Given the description of an element on the screen output the (x, y) to click on. 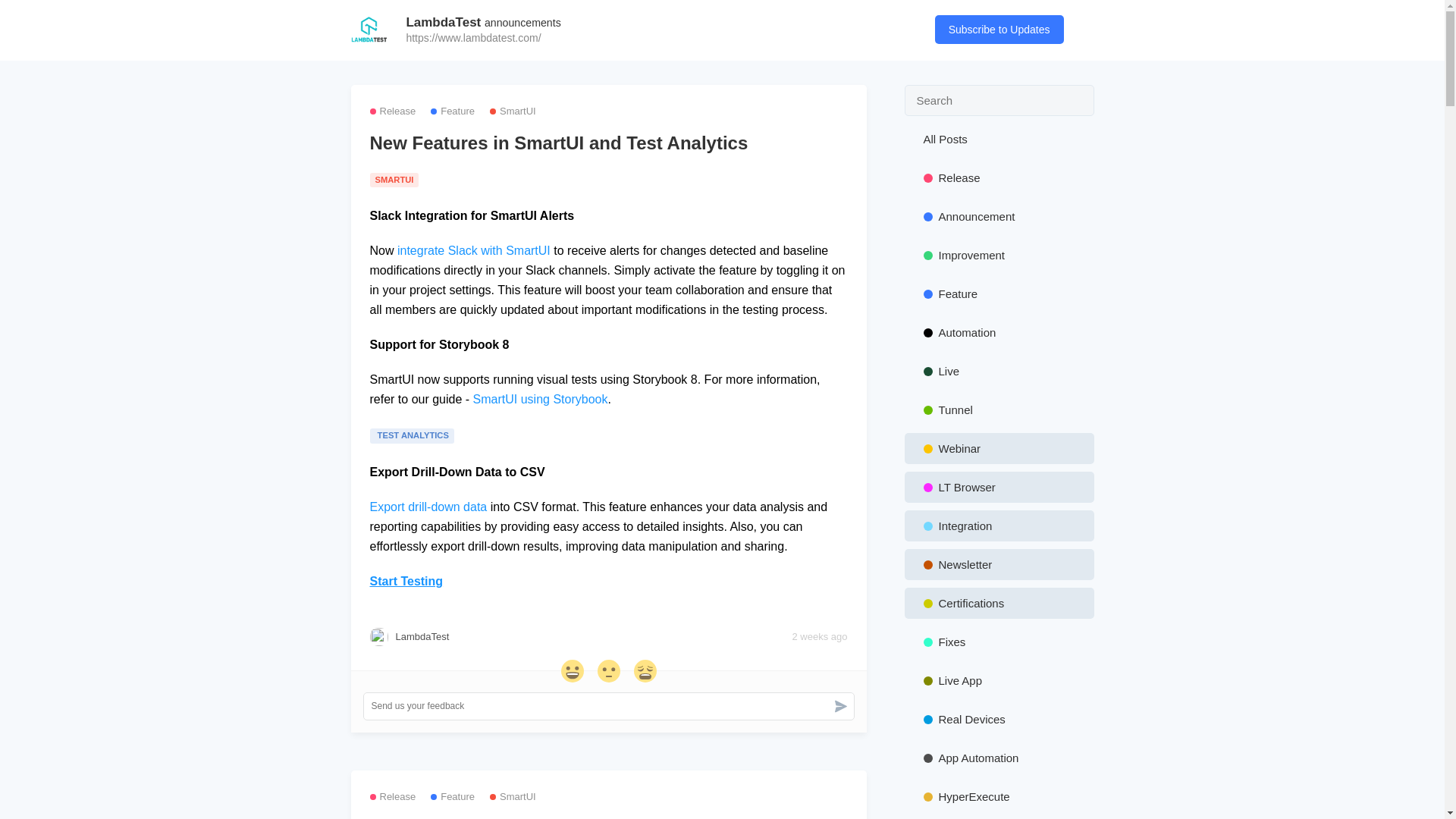
Start Testing (406, 581)
Subscribe to Updates (930, 215)
2 weeks ago (819, 637)
New Features in SmartUI and Test Analytics (608, 142)
Export drill-down data (428, 506)
Subscribe to Updates (999, 29)
integrate Slack with SmartUI (473, 250)
LambdaTest announcements (483, 22)
SmartUI using Storybook (540, 399)
